Given the description of an element on the screen output the (x, y) to click on. 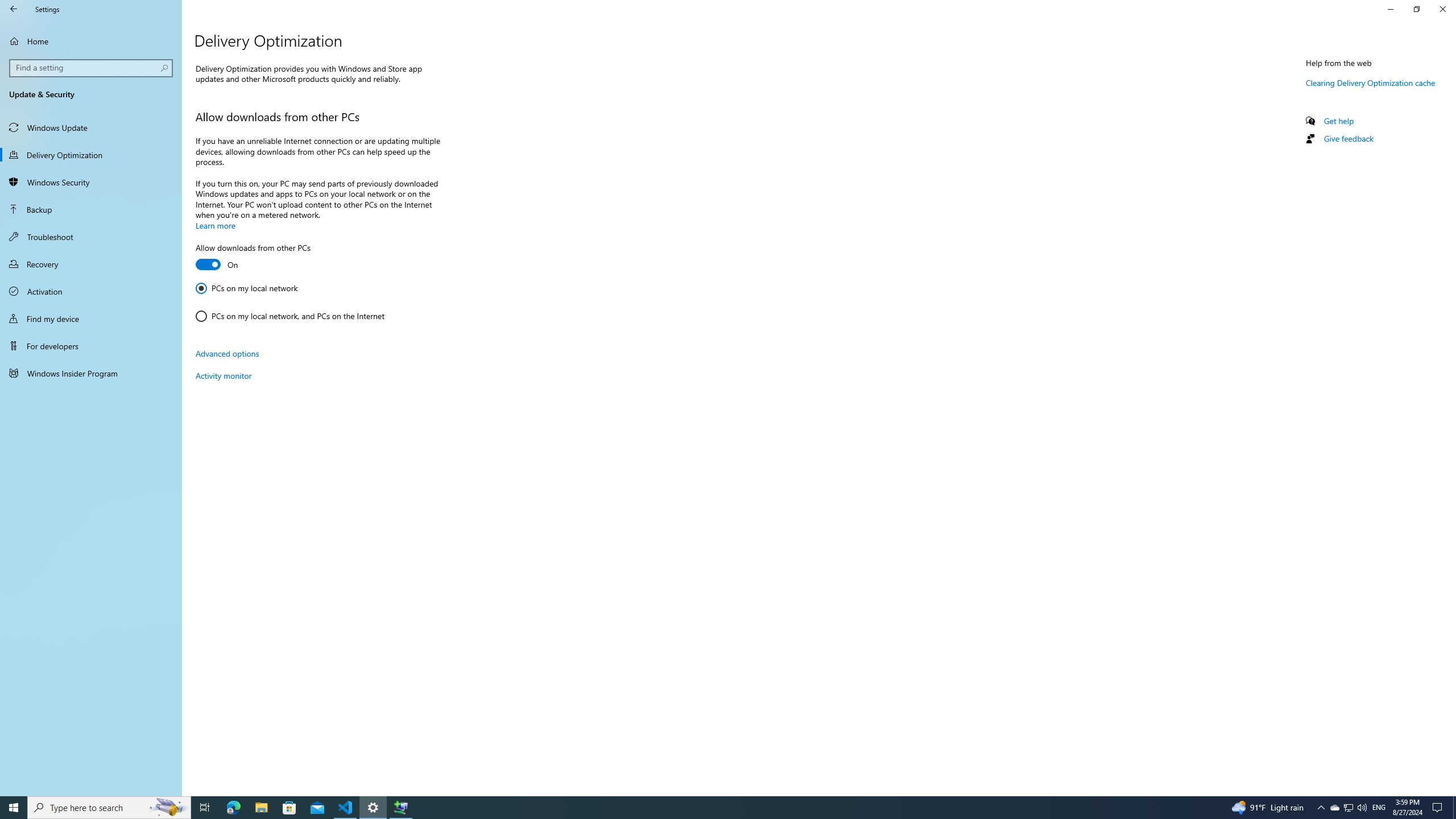
For developers (91, 345)
PCs on my local network, and PCs on the Internet (289, 316)
Advanced options (227, 353)
Troubleshoot (91, 236)
Search box, Find a setting (91, 67)
Minimize Settings (1390, 9)
Activation (91, 290)
Restore Settings (1416, 9)
Give feedback (1348, 138)
Home (91, 40)
